Given the description of an element on the screen output the (x, y) to click on. 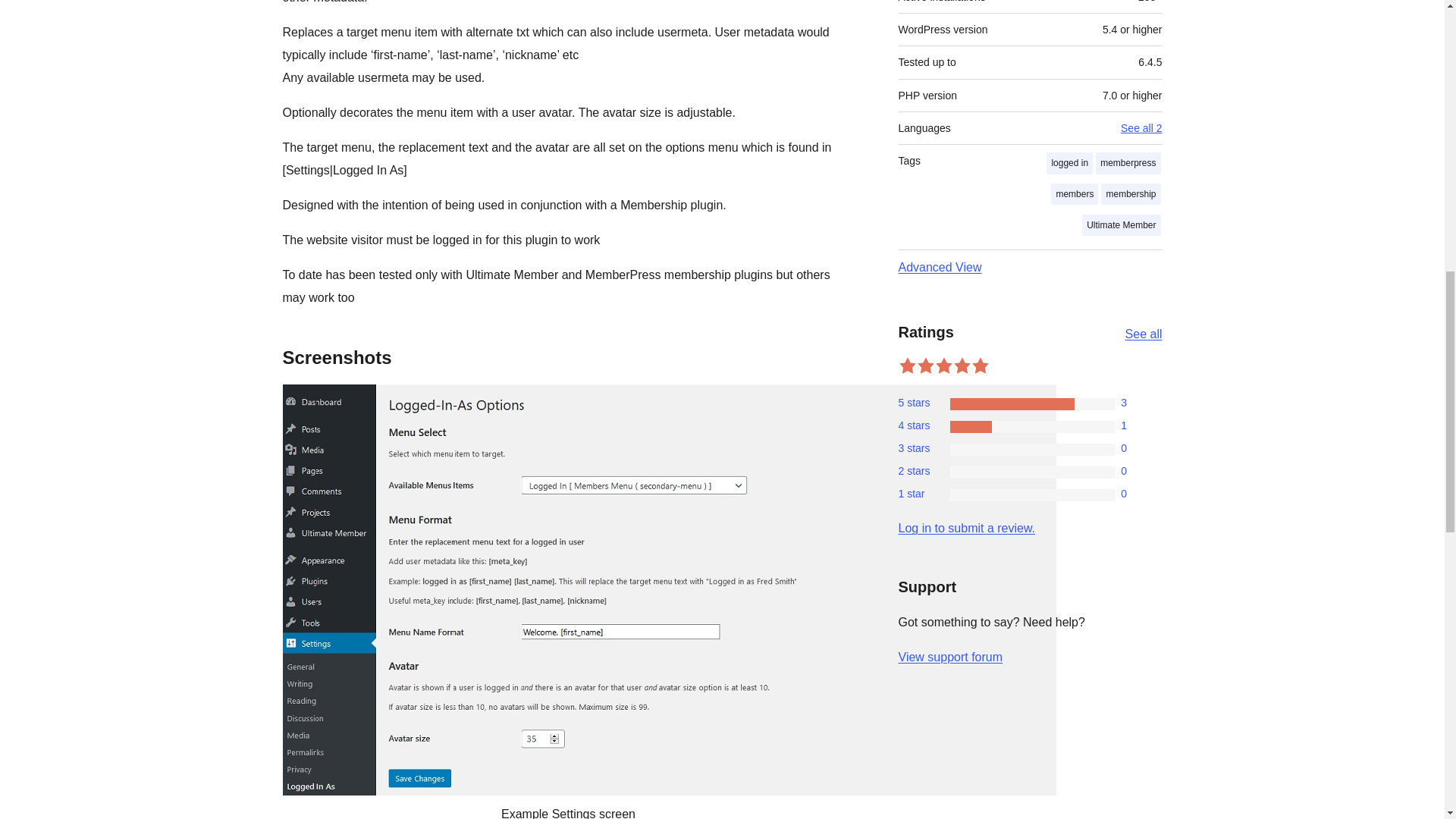
Log in to WordPress.org (966, 527)
